Given the description of an element on the screen output the (x, y) to click on. 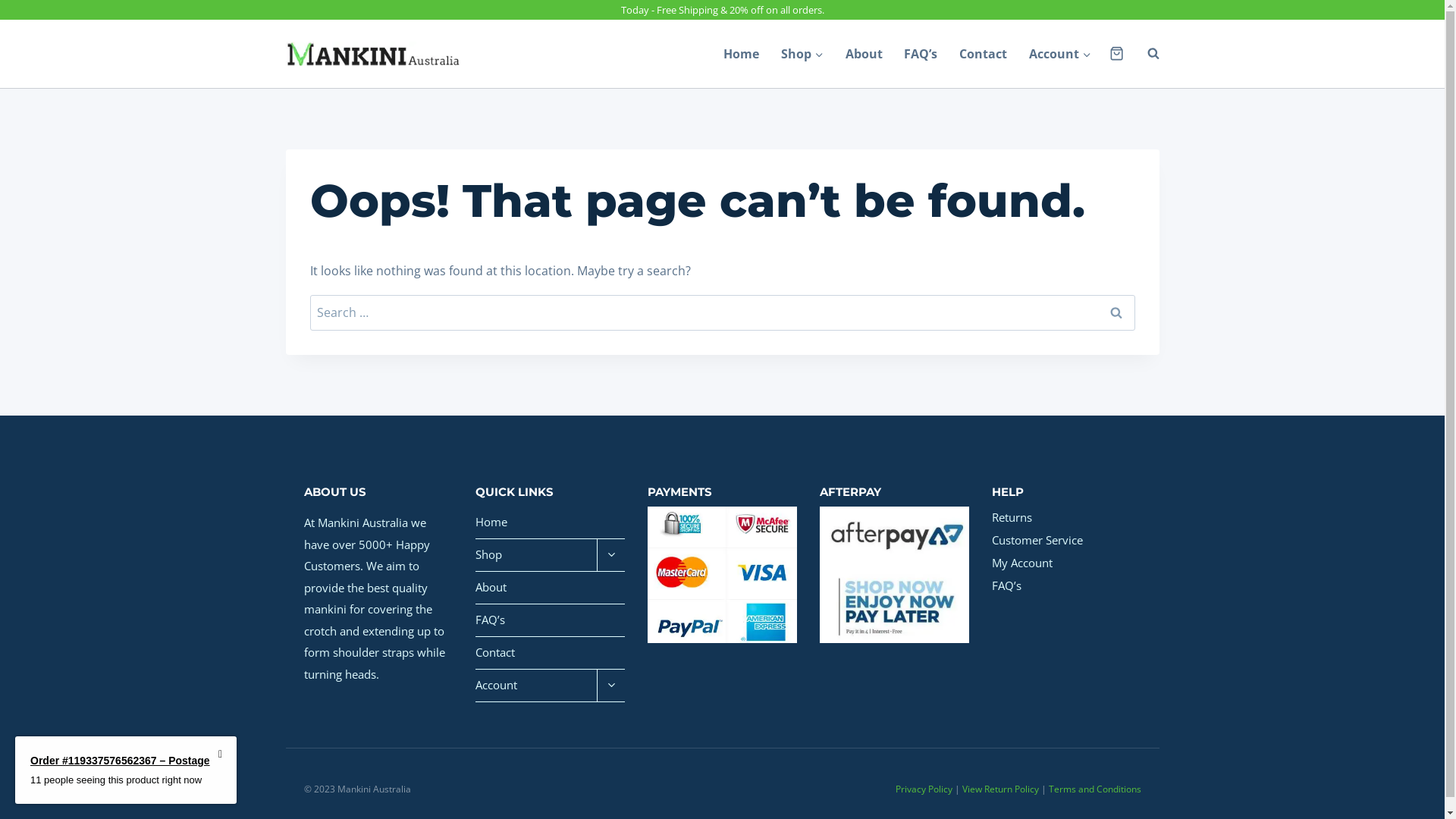
Contact Element type: text (549, 653)
Home Element type: text (741, 53)
Contact Element type: text (983, 53)
About Element type: text (863, 53)
Expand child menu Element type: text (610, 685)
Shop Element type: text (801, 53)
Home Element type: text (549, 522)
Terms and Conditions Element type: text (1094, 788)
Customer Service Element type: text (1066, 540)
About Element type: text (549, 587)
Account Element type: text (535, 685)
Privacy Policy Element type: text (922, 788)
Returns Element type: text (1066, 517)
Expand child menu Element type: text (610, 555)
My Account Element type: text (1066, 563)
View Return Policy Element type: text (999, 788)
Search Element type: text (1115, 312)
Account Element type: text (1060, 53)
Shop Element type: text (535, 555)
